Given the description of an element on the screen output the (x, y) to click on. 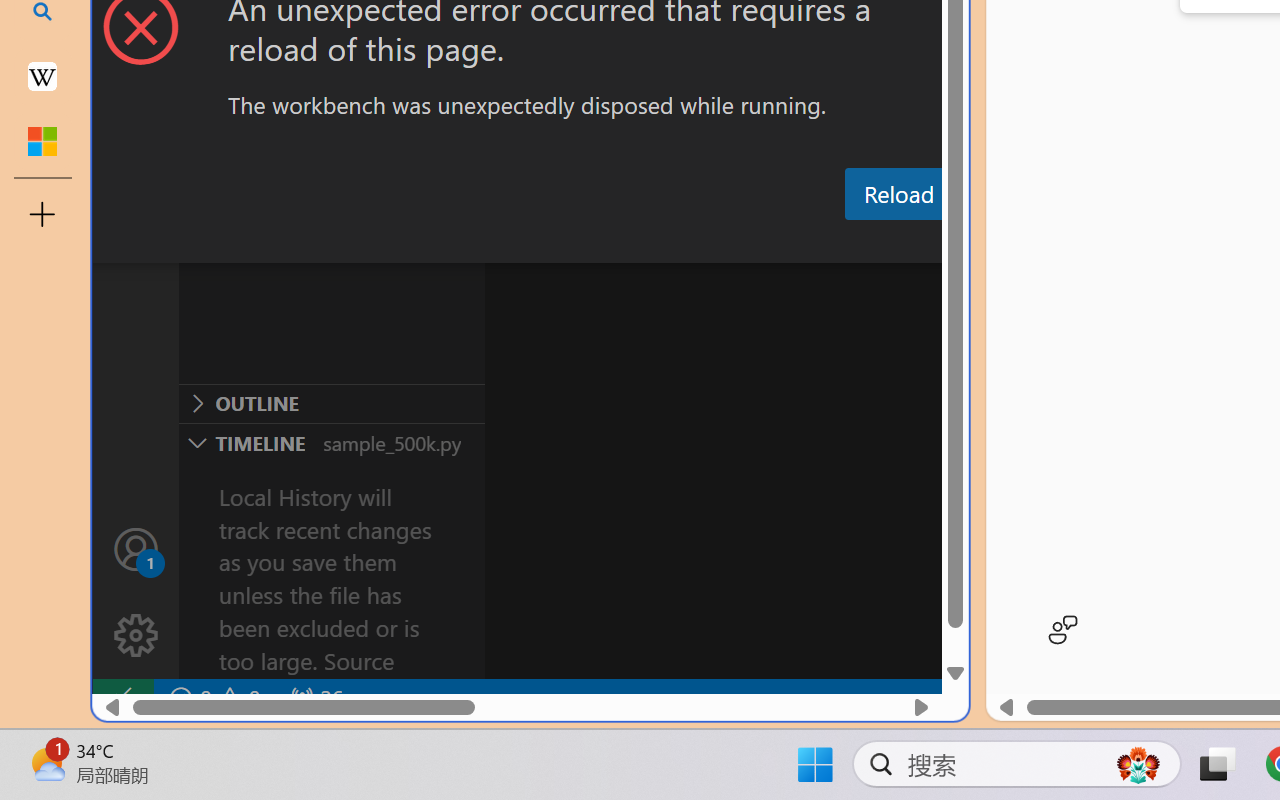
Debug Console (Ctrl+Shift+Y) (854, 243)
Earth - Wikipedia (42, 75)
No Problems (212, 698)
Accounts - Sign in requested (135, 548)
Manage (135, 591)
Outline Section (331, 403)
remote (122, 698)
Manage (135, 635)
Reload (898, 193)
Problems (Ctrl+Shift+M) (567, 243)
Timeline Section (331, 442)
